Given the description of an element on the screen output the (x, y) to click on. 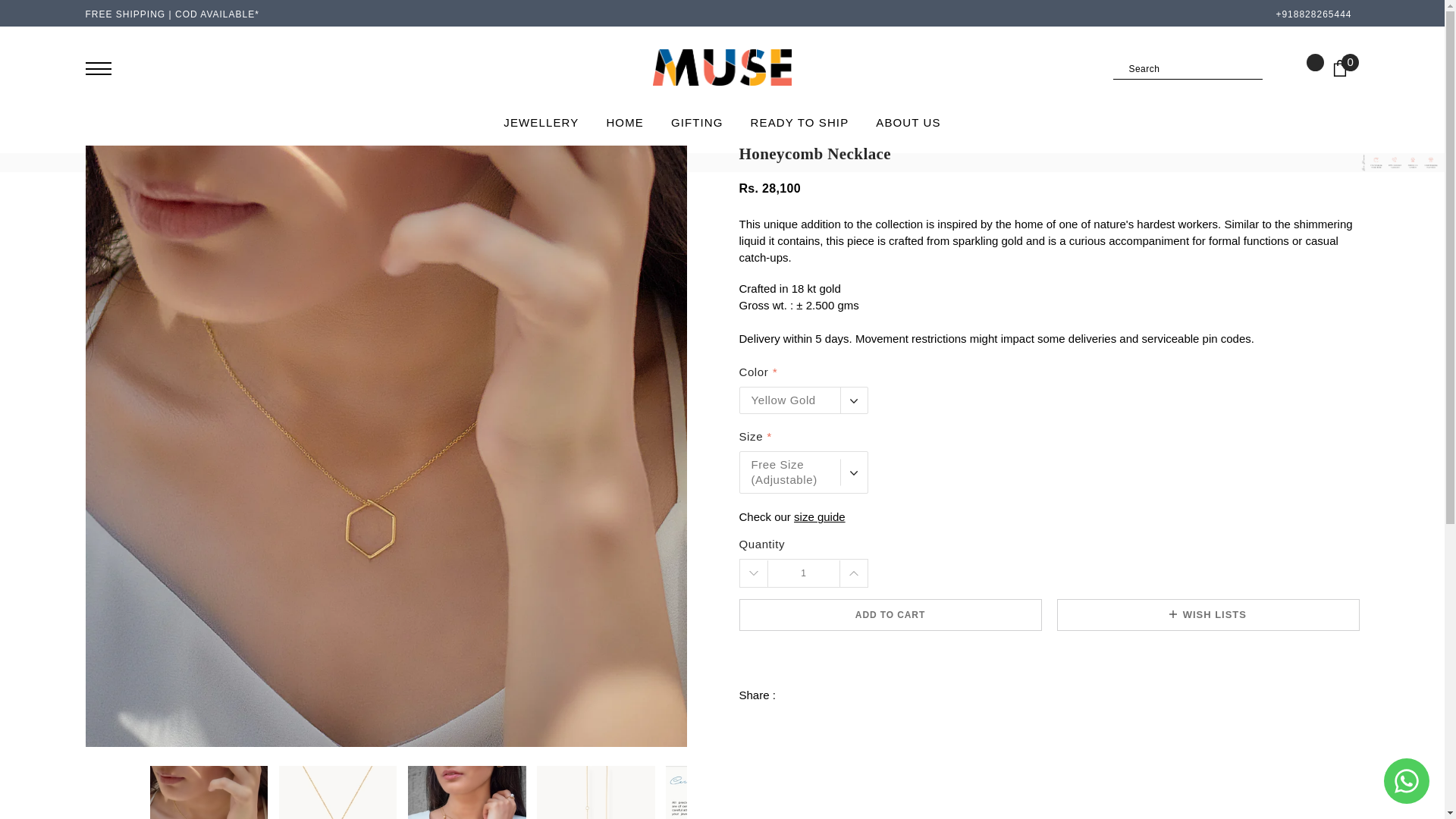
JEWELLERY (540, 122)
1 (803, 573)
Menu left (97, 67)
User Icon (141, 66)
0 (1345, 74)
